Given the description of an element on the screen output the (x, y) to click on. 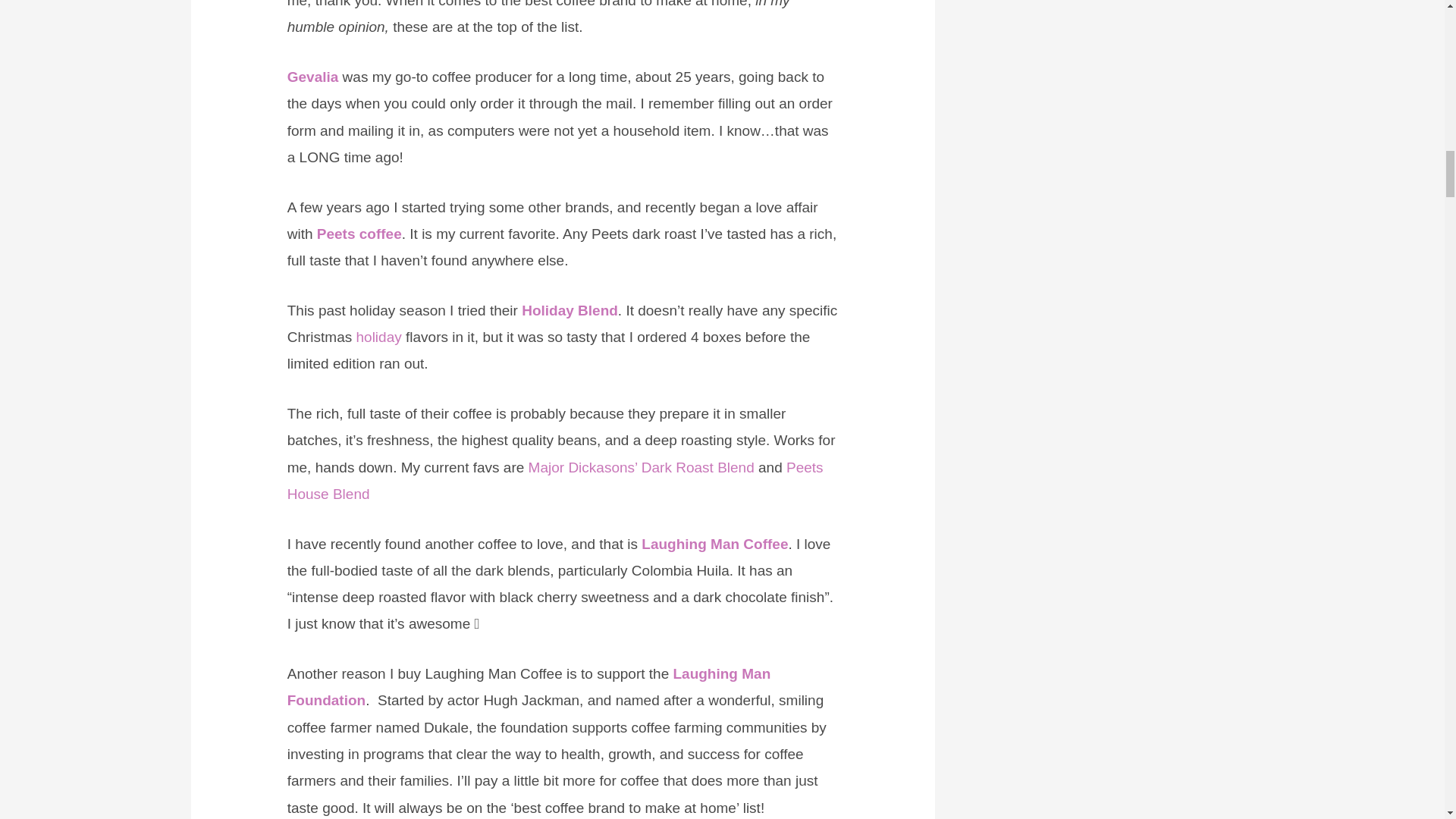
Gevalia (312, 76)
holiday (378, 336)
Laughing Man Coffee (714, 544)
12 Christmas Gift Ideas for Women Over 50 (378, 336)
Peets coffee (359, 233)
Major Dickasons' Dark Roast Blend (641, 467)
Holiday Blend (569, 310)
Peets House Blend  (555, 480)
Laughing Man Foundation (528, 686)
